Given the description of an element on the screen output the (x, y) to click on. 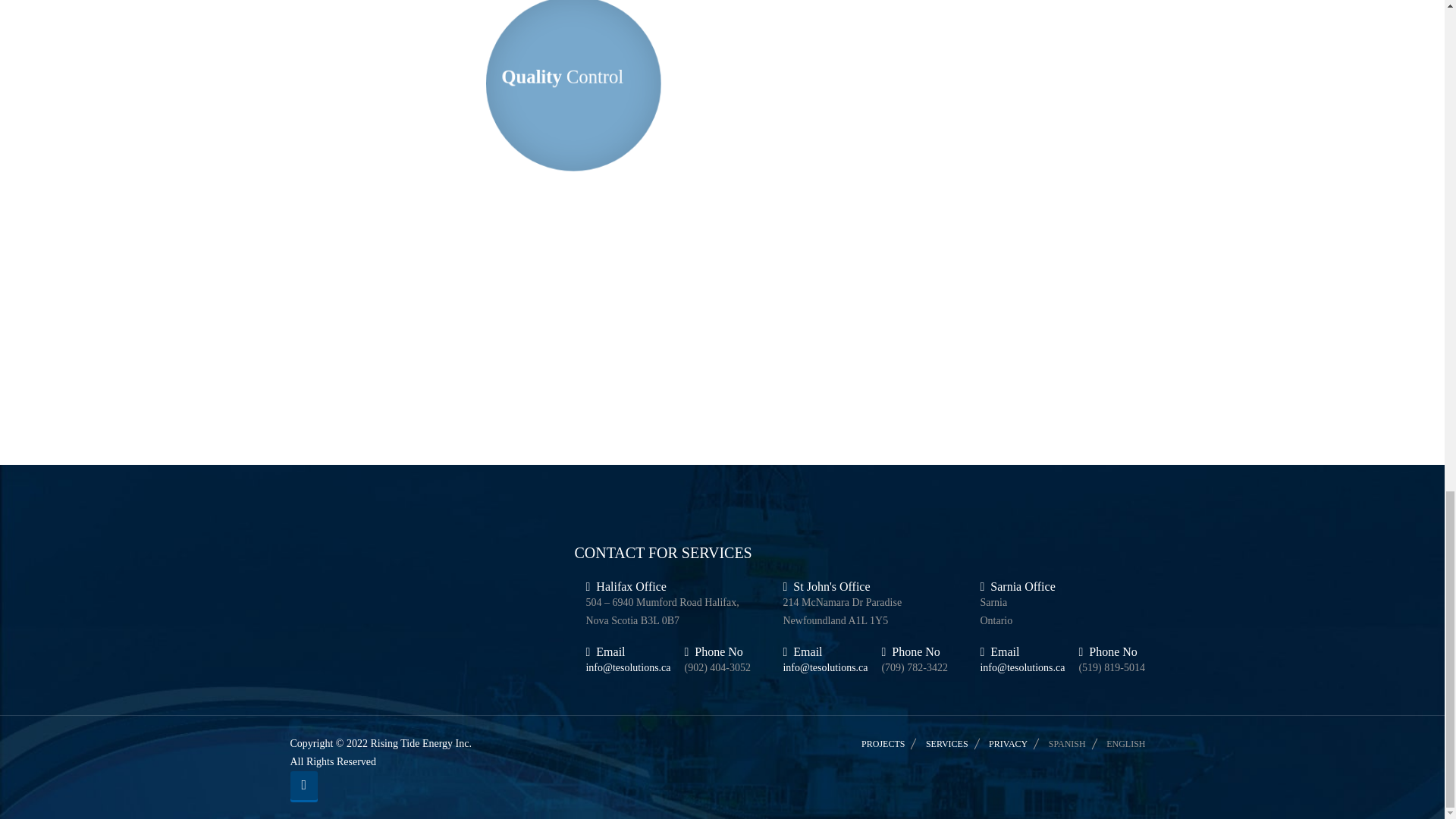
Back to Top (303, 785)
Quality Control (560, 75)
